Given the description of an element on the screen output the (x, y) to click on. 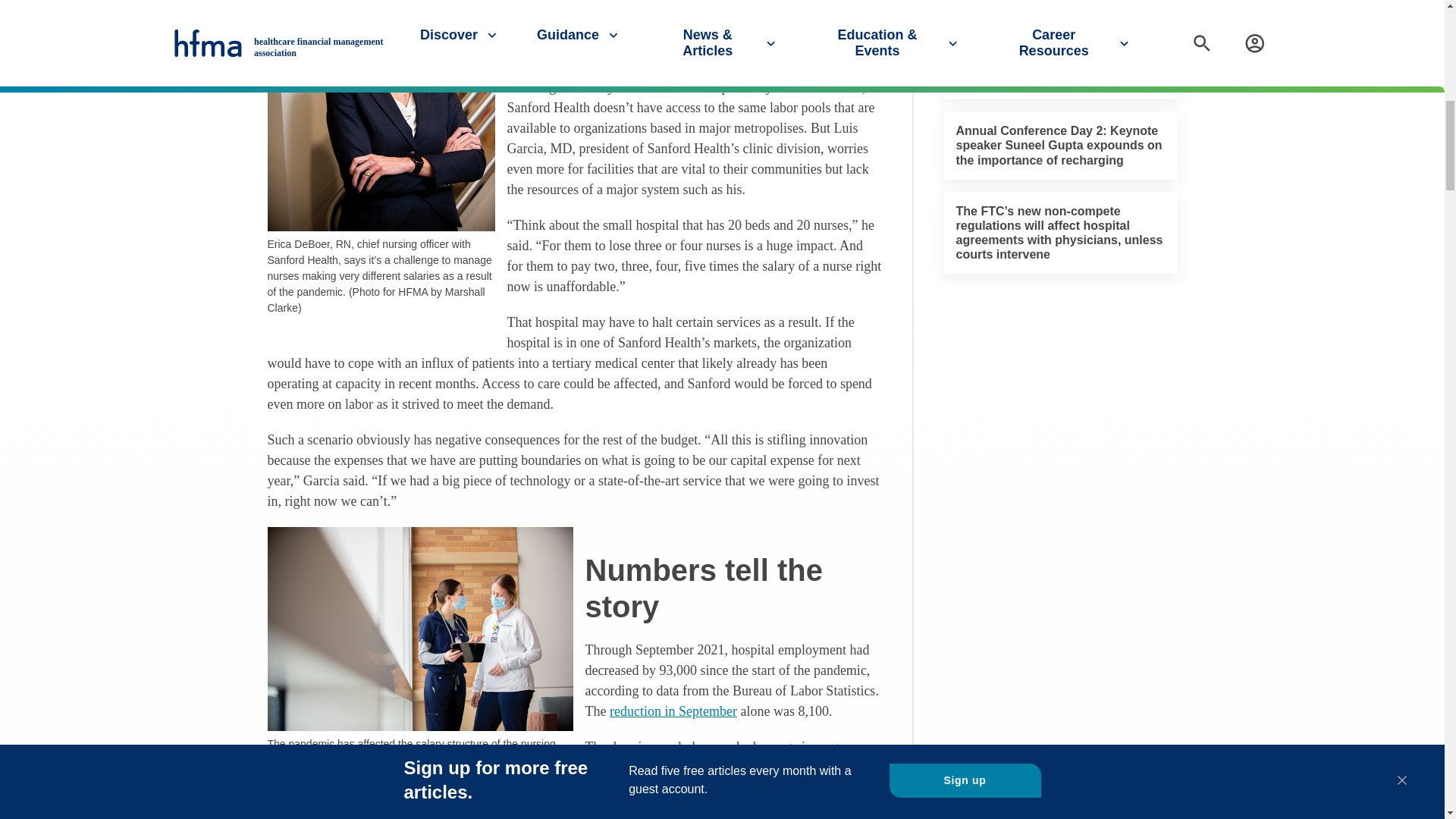
3rd party ad content (1059, 383)
